Given the description of an element on the screen output the (x, y) to click on. 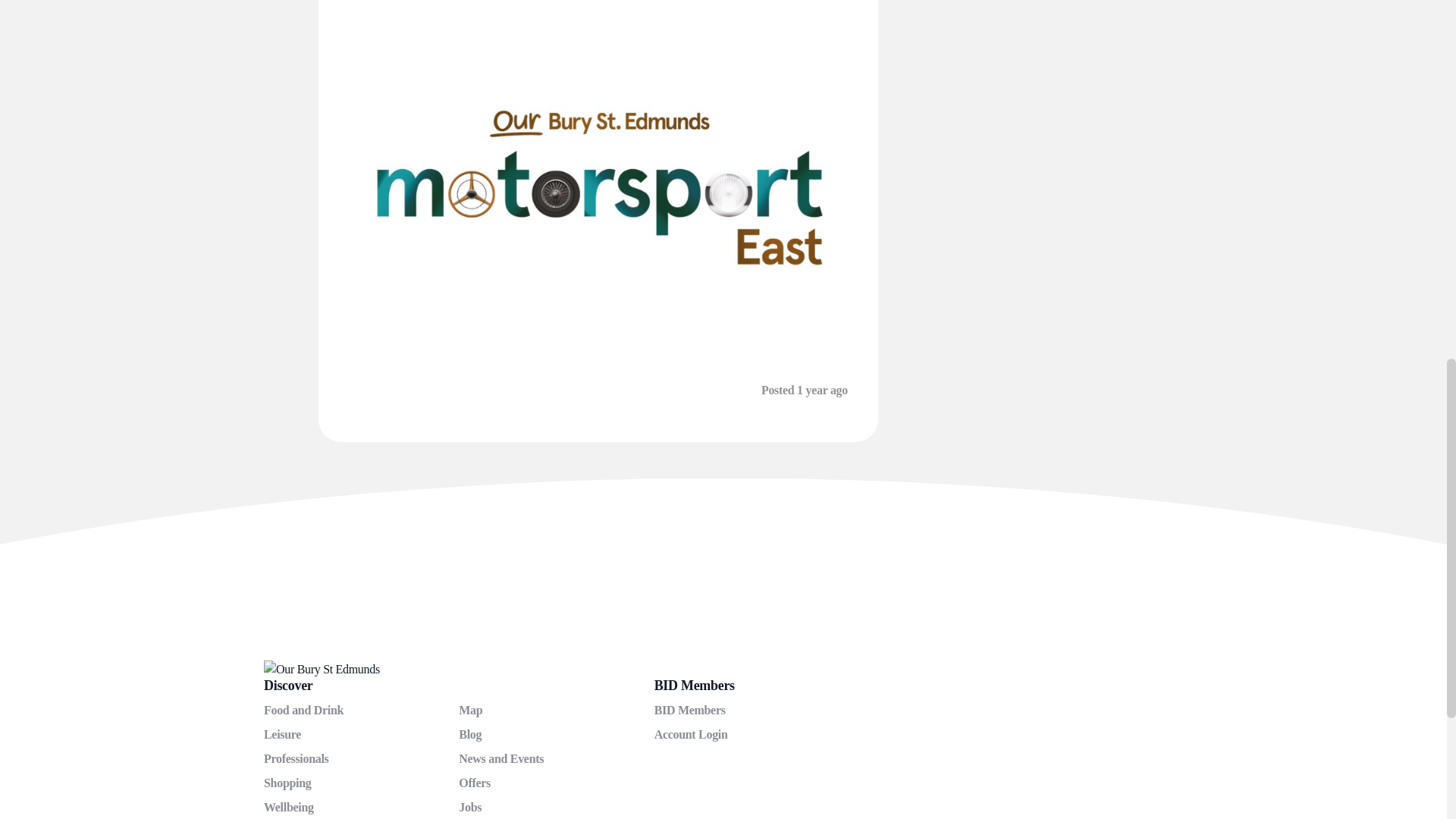
Offers (474, 782)
Wellbeing (288, 807)
Map (469, 709)
Shopping (287, 782)
Professionals (296, 758)
Leisure (282, 734)
Blog (469, 734)
News and Events (500, 758)
BID Members (689, 709)
Account Login (690, 734)
Food and Drink (303, 709)
Jobs (469, 807)
